Given the description of an element on the screen output the (x, y) to click on. 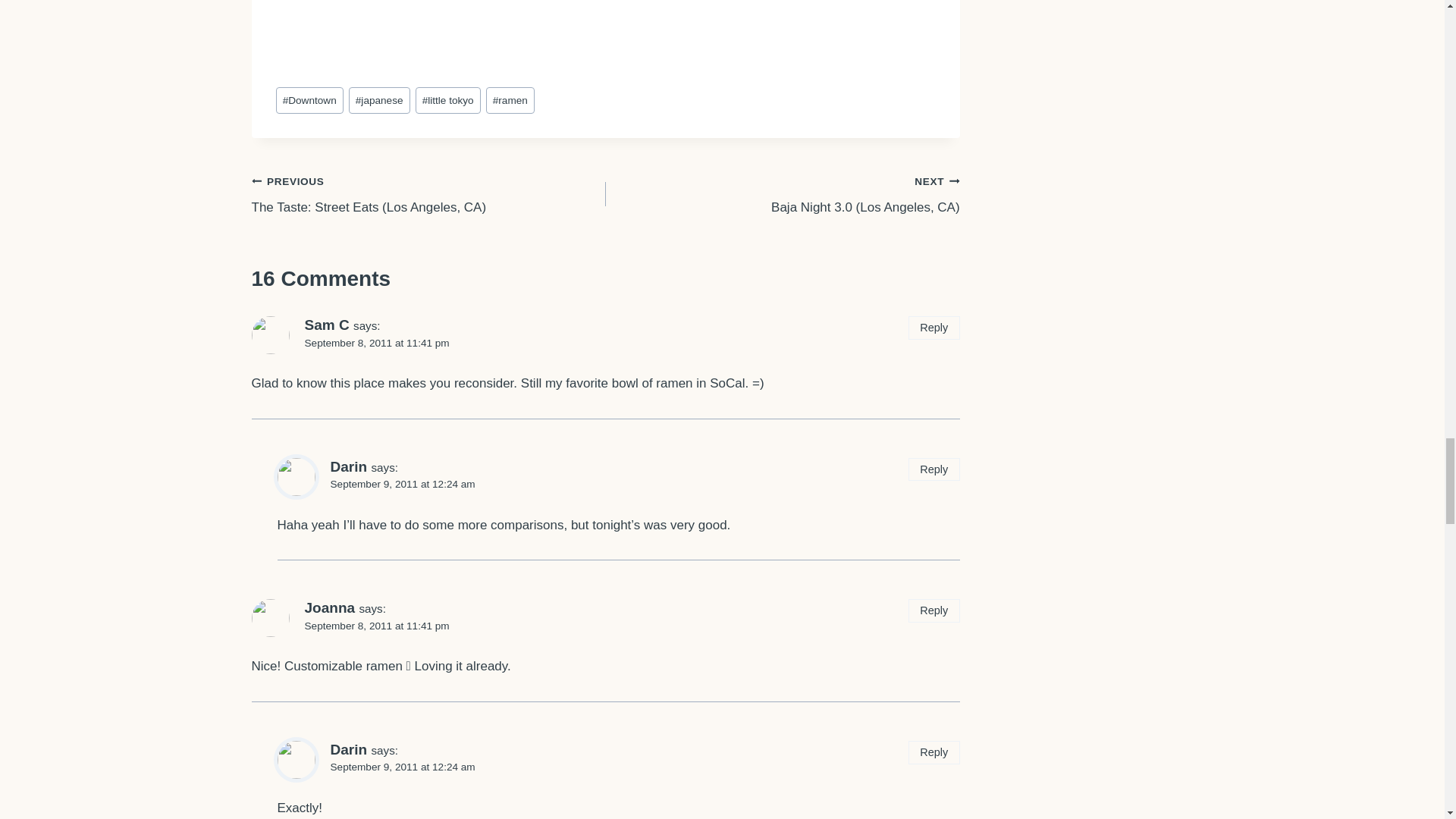
Reply (933, 610)
September 9, 2011 at 12:24 am (403, 767)
Downtown (309, 99)
Reply (933, 469)
Reply (933, 752)
September 8, 2011 at 11:41 pm (376, 625)
Sam C (326, 324)
Joanna (329, 607)
Darin (349, 466)
japanese (379, 99)
